Given the description of an element on the screen output the (x, y) to click on. 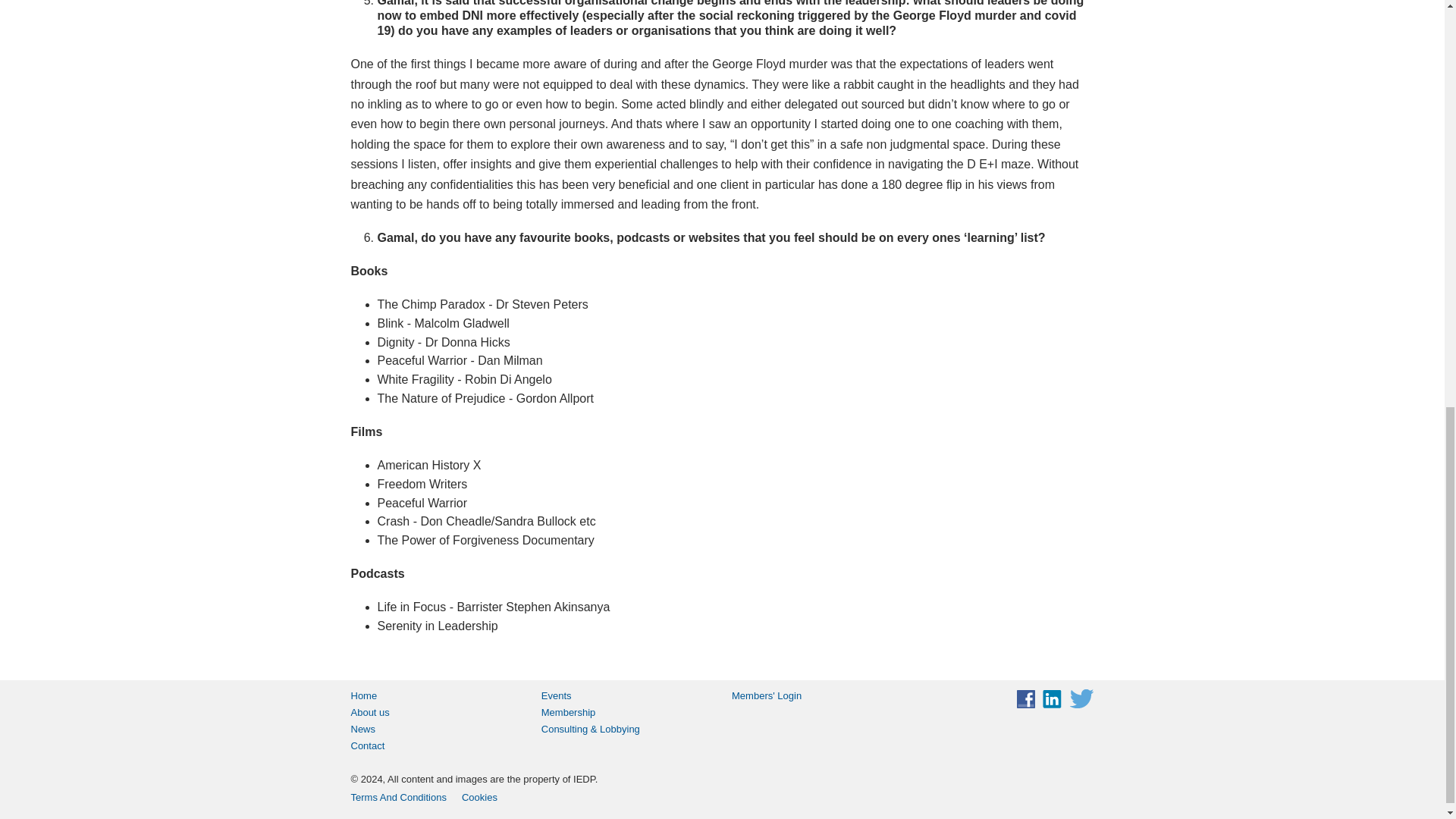
Follow IEDP on Twitter (1080, 698)
Events (627, 695)
Join us on Facebook (1025, 698)
Cookies (479, 797)
About us (435, 712)
Membership (627, 712)
Contact (435, 745)
Terms And Conditions (397, 797)
Join our network on LinkedIn (1051, 698)
News (435, 729)
Home (435, 695)
Members' Login (817, 695)
